Given the description of an element on the screen output the (x, y) to click on. 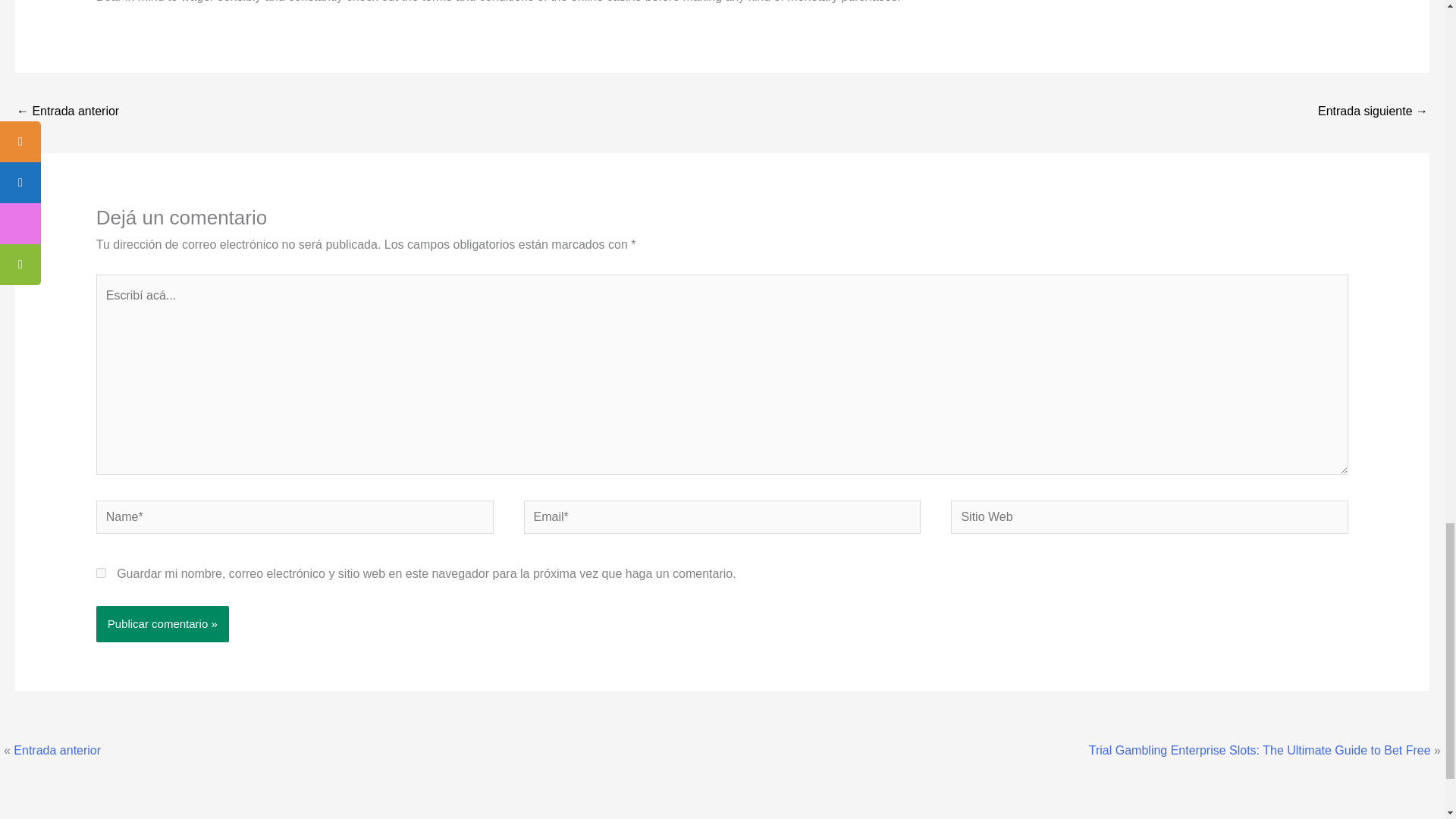
Entrada anterior (56, 749)
yes (101, 573)
